Given the description of an element on the screen output the (x, y) to click on. 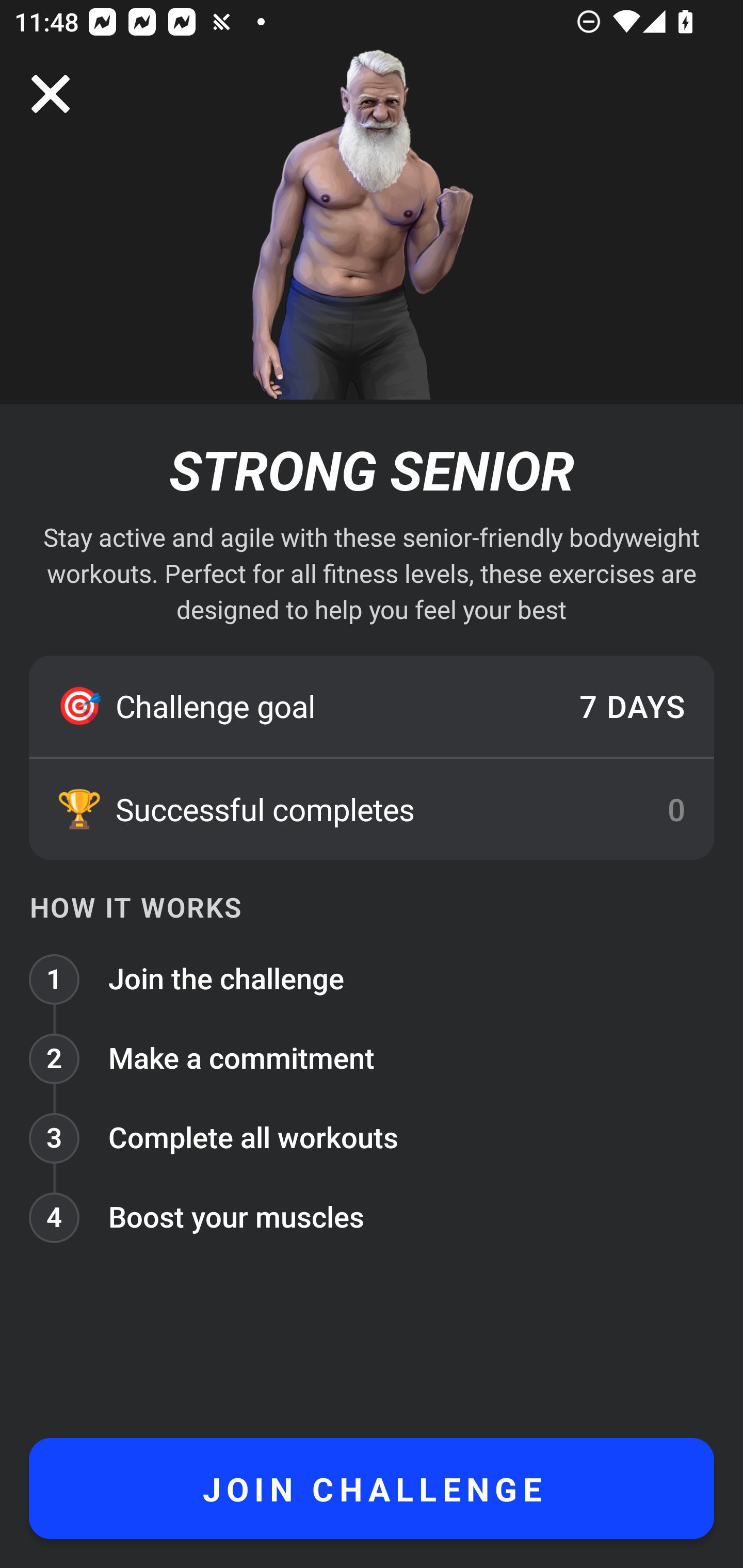
Close (50, 93)
JOIN CHALLENGE (371, 1488)
